Given the description of an element on the screen output the (x, y) to click on. 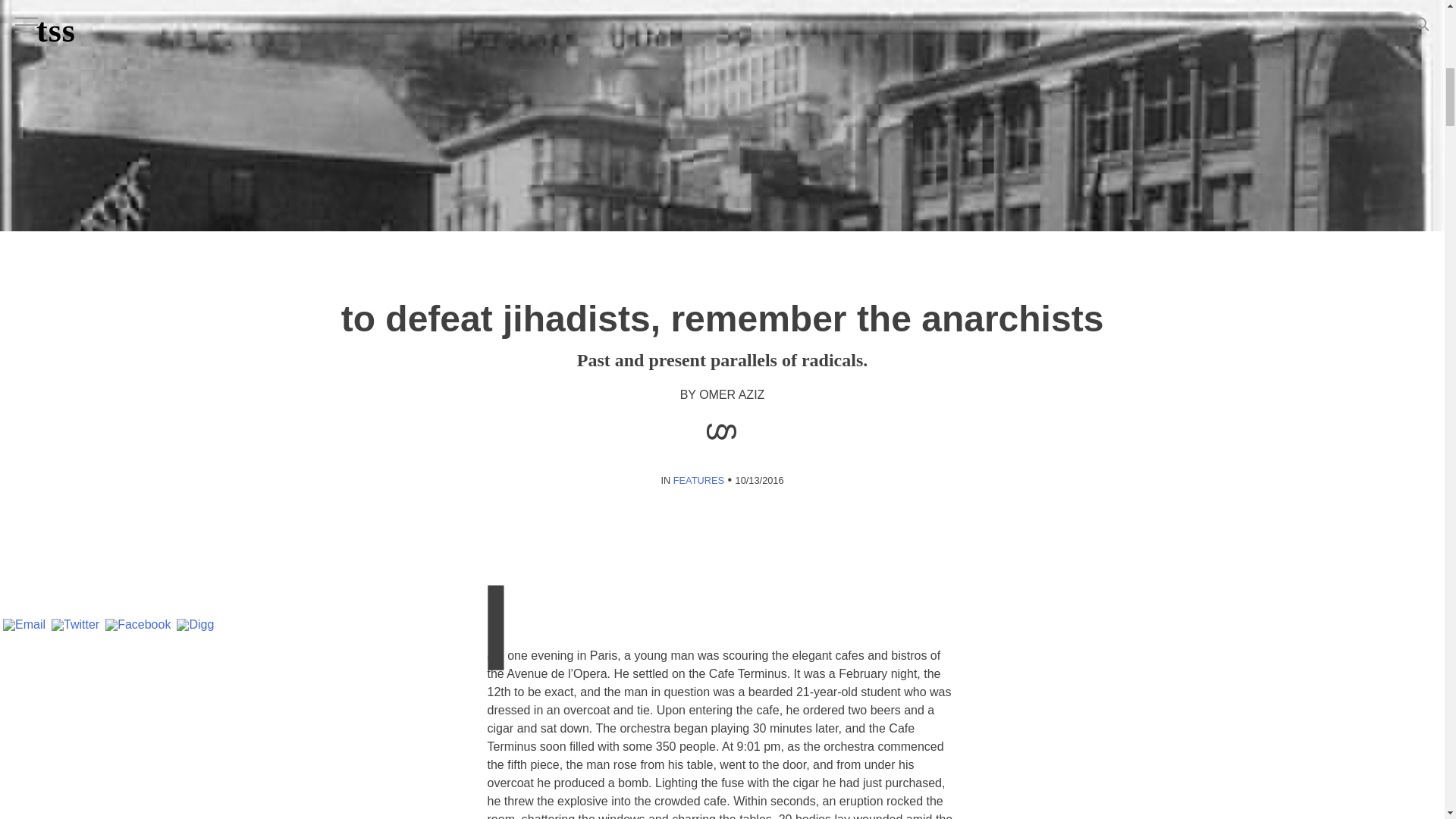
Posts by Omer Aziz (731, 394)
Twitter (74, 626)
Email (24, 626)
FEATURES (697, 480)
Digg (194, 626)
Facebook (137, 626)
OMER AZIZ (731, 394)
